Given the description of an element on the screen output the (x, y) to click on. 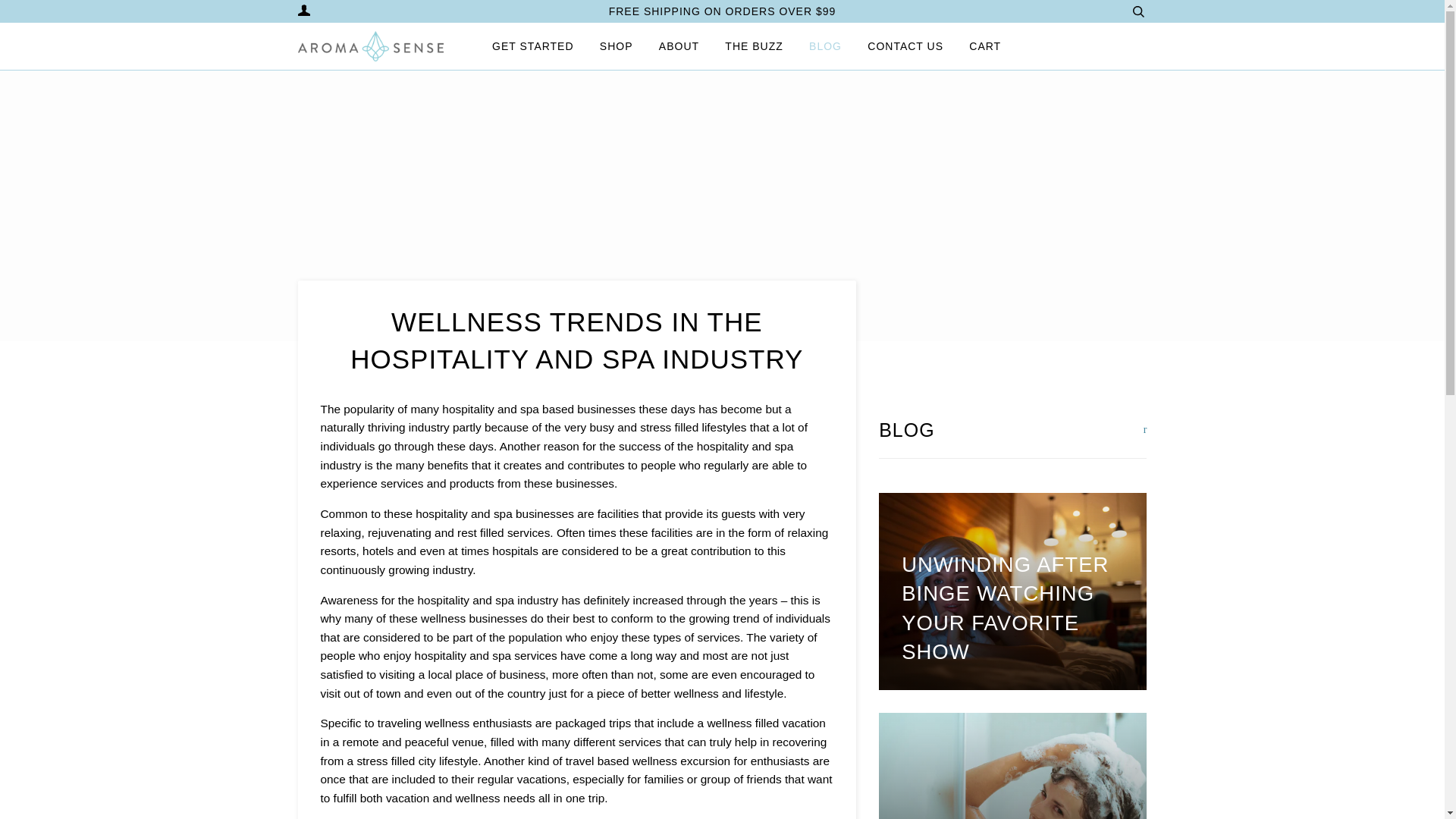
CONTACT US (905, 45)
GET STARTED (532, 45)
THE BUZZ (754, 45)
